Given the description of an element on the screen output the (x, y) to click on. 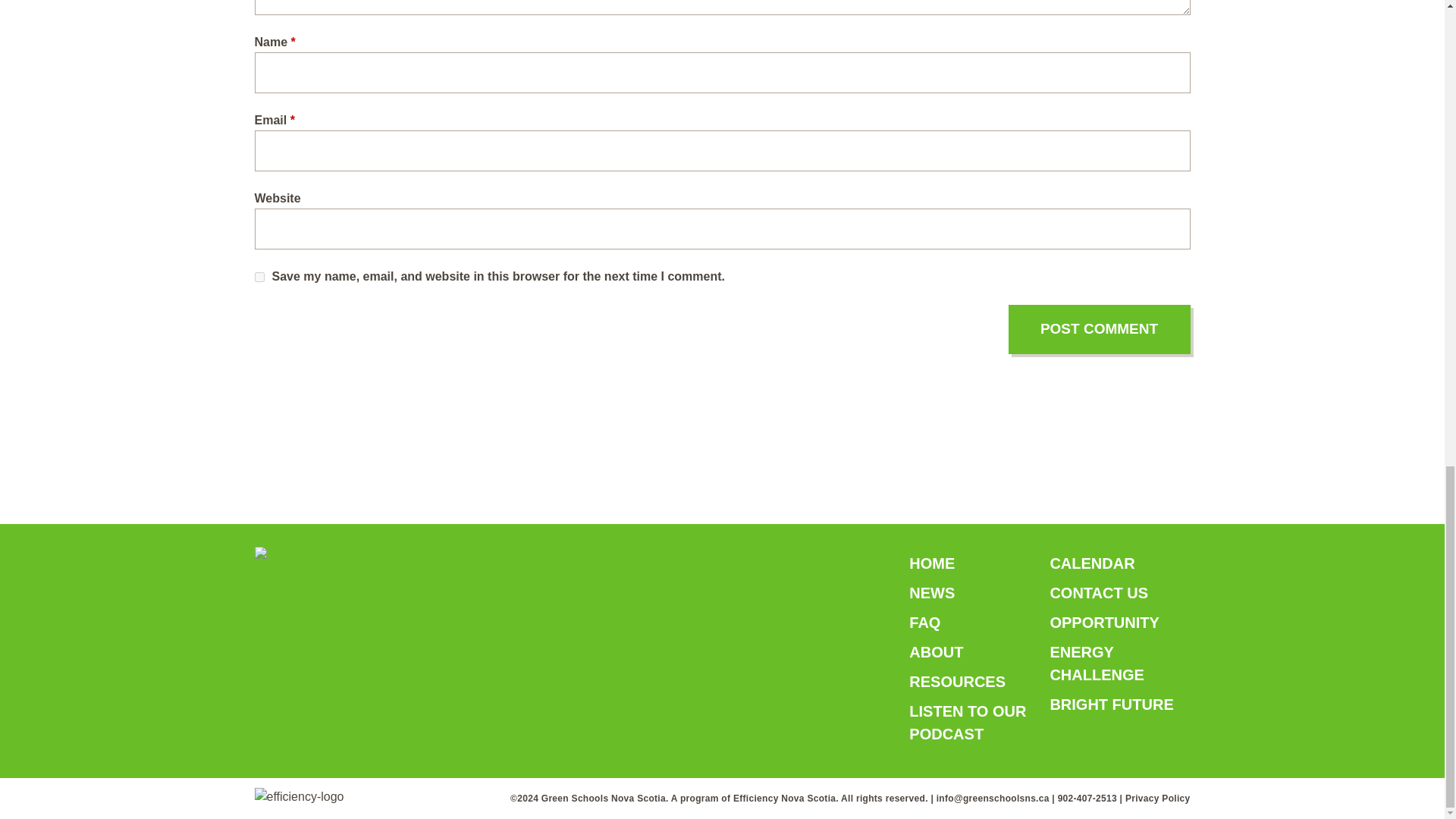
RESOURCES (957, 681)
NEWS (931, 591)
OPPORTUNITY (1103, 622)
CONTACT US (1098, 591)
Post Comment (1100, 328)
yes (259, 276)
FAQ (924, 622)
LISTEN TO OUR PODCAST (967, 721)
CALENDAR (1091, 563)
Post Comment (1100, 328)
